Given the description of an element on the screen output the (x, y) to click on. 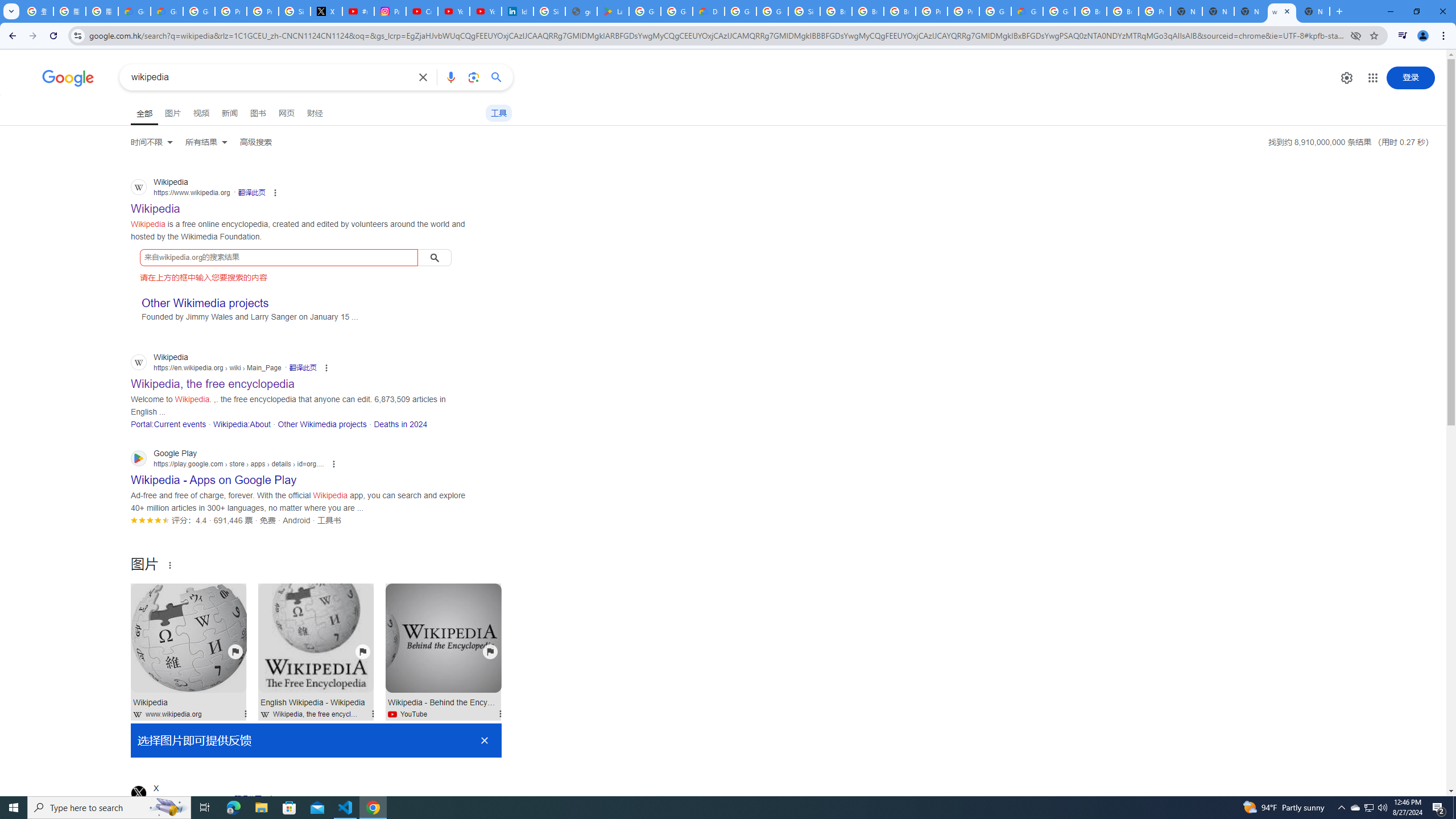
Google Cloud Platform (740, 11)
Google Cloud Estimate Summary (1027, 11)
Google Cloud Platform (995, 11)
#nbabasketballhighlights - YouTube (358, 11)
Last Shelter: Survival - Apps on Google Play (613, 11)
Sign in - Google Accounts (294, 11)
Google Cloud Platform (1059, 11)
